Given the description of an element on the screen output the (x, y) to click on. 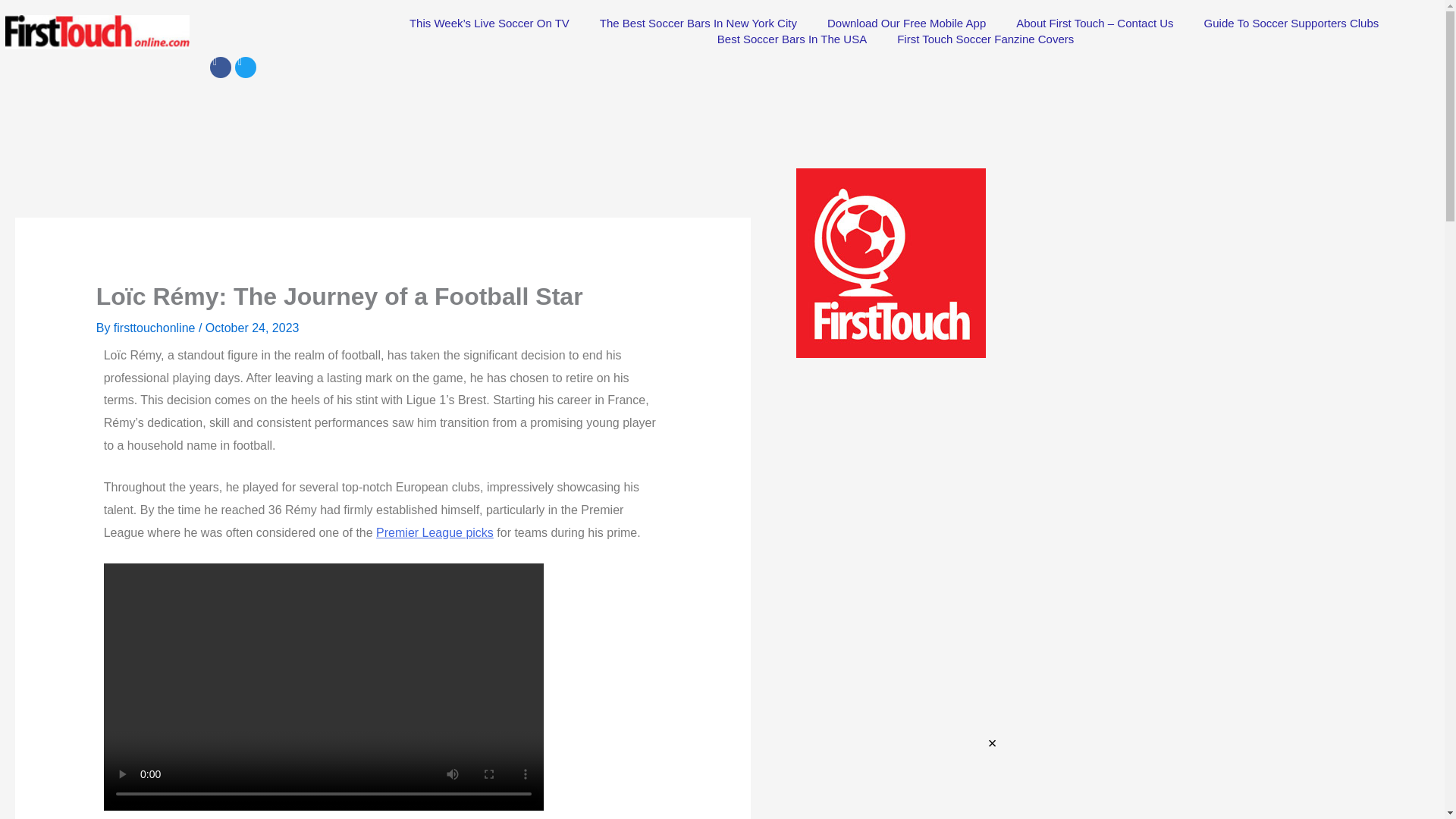
The Best Soccer Bars In New York City (698, 23)
Twitter (245, 66)
Facebook (219, 66)
First Touch Soccer Fanzine Covers (985, 38)
Best Soccer Bars In The USA (791, 38)
firsttouchonline (155, 327)
View all posts by firsttouchonline (155, 327)
Download Our Free Mobile App (905, 23)
Guide To Soccer Supporters Clubs (1292, 23)
Premier League picks (434, 532)
